Given the description of an element on the screen output the (x, y) to click on. 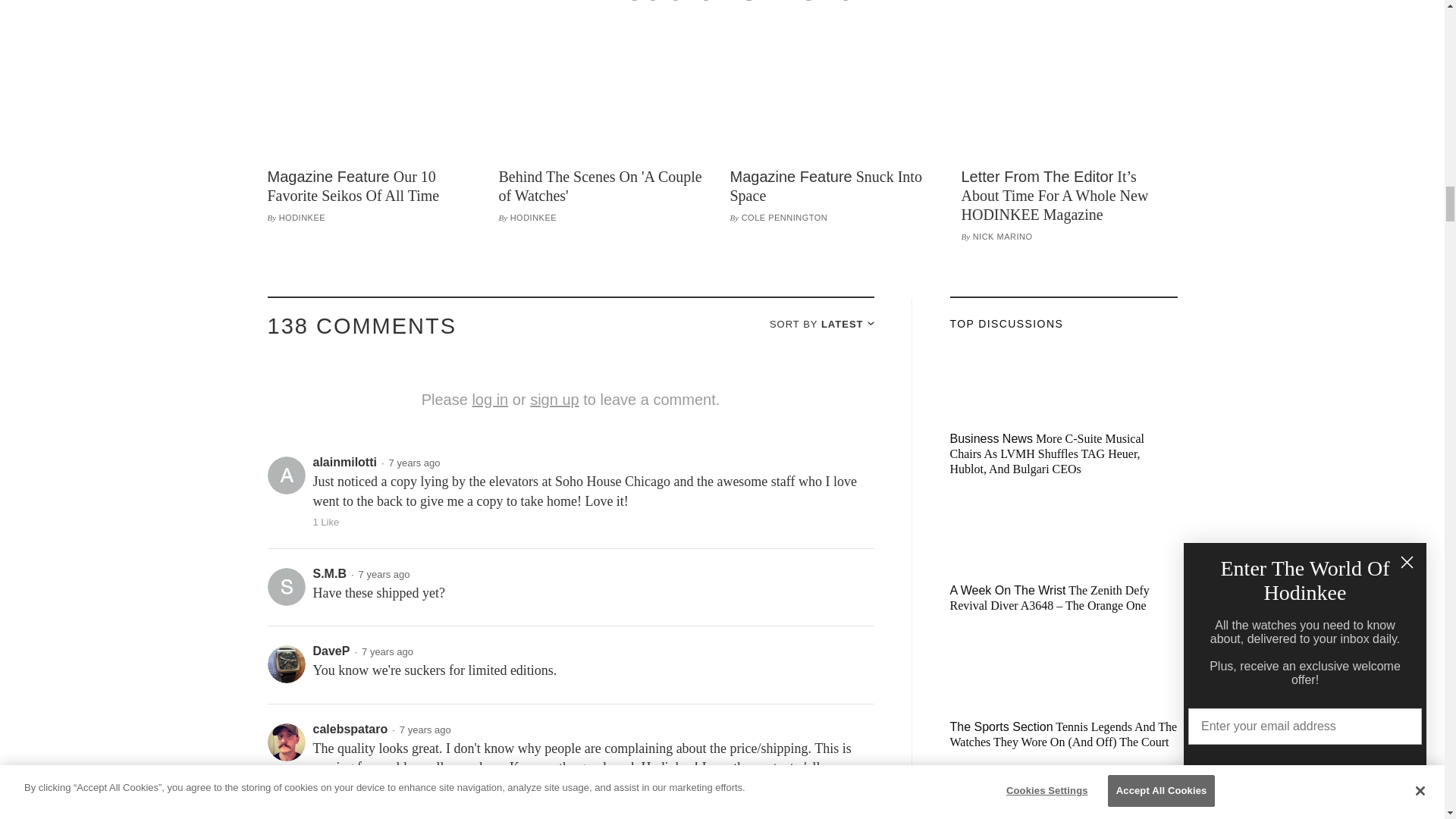
2017-09-26 16:23 (384, 573)
2017-09-18 02:35 (387, 651)
2017-09-11 23:51 (424, 729)
2017-10-28 05:08 (414, 462)
